Given the description of an element on the screen output the (x, y) to click on. 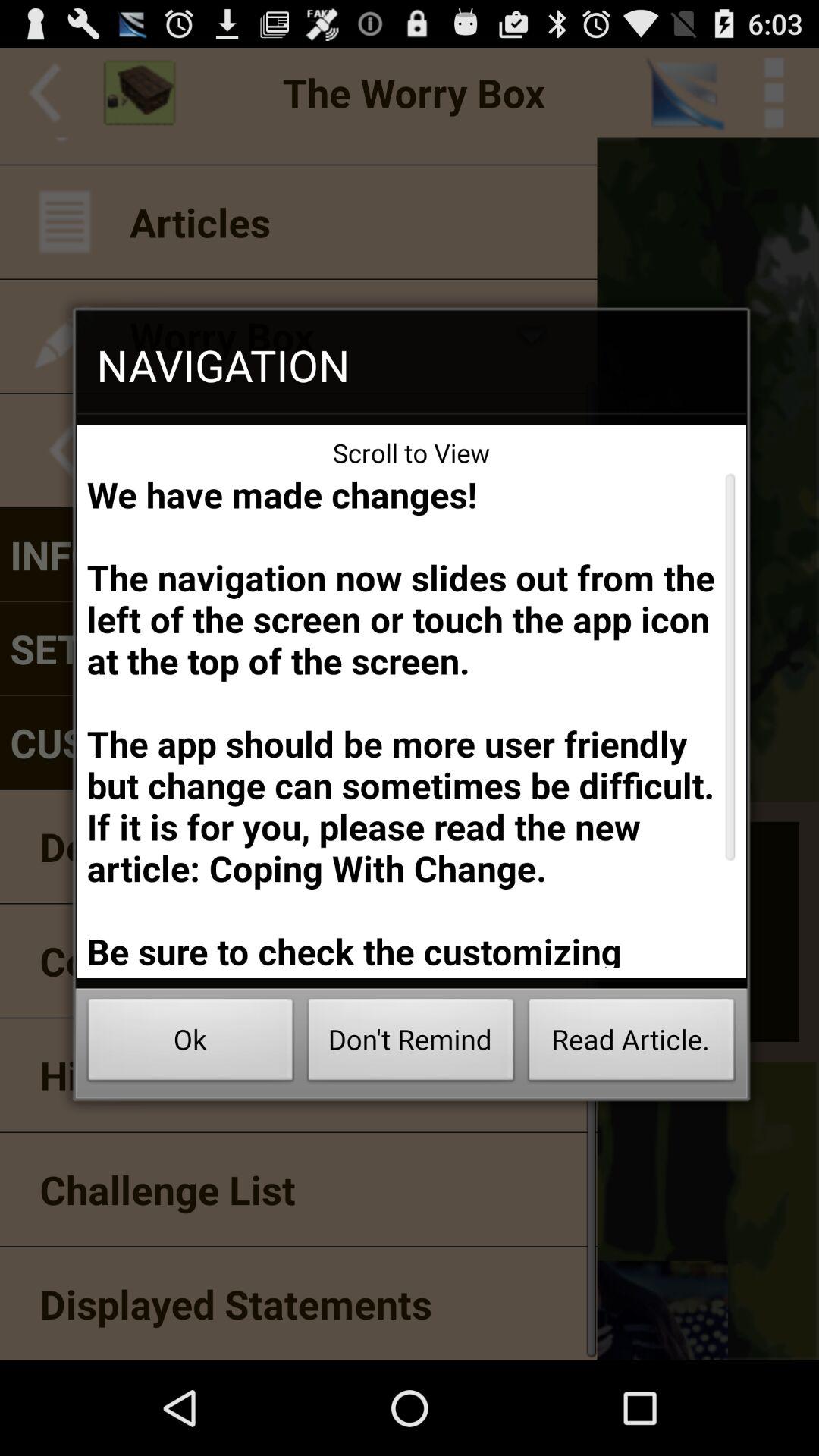
press the icon to the right of ok button (410, 1044)
